Given the description of an element on the screen output the (x, y) to click on. 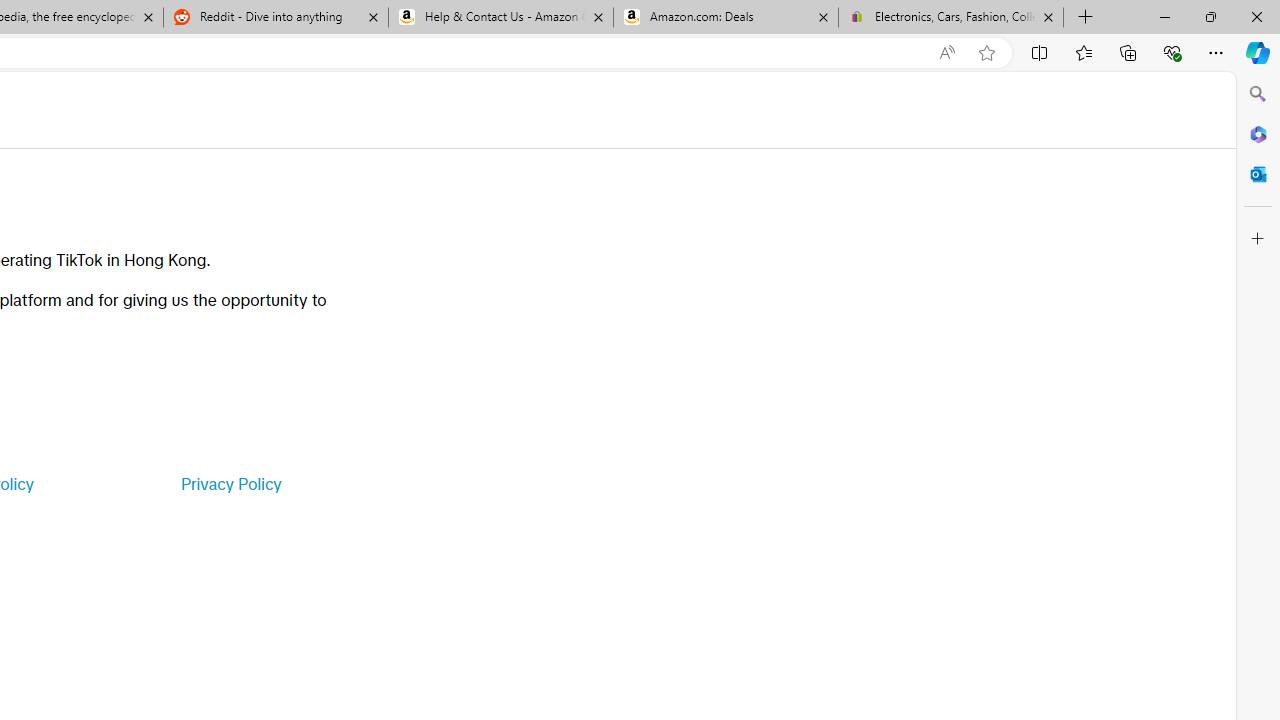
Amazon.com: Deals (726, 17)
